Given the description of an element on the screen output the (x, y) to click on. 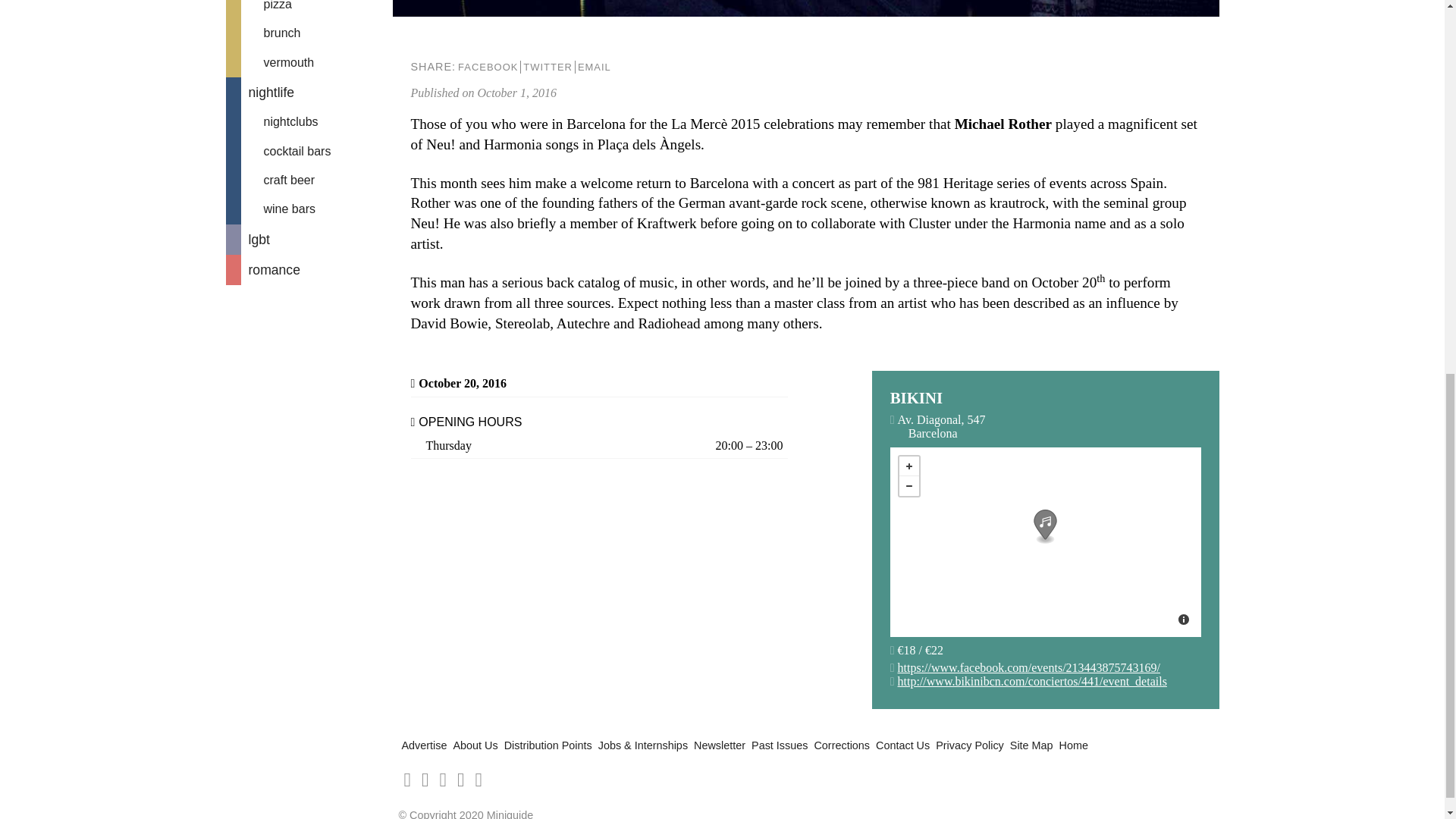
craft beer (309, 180)
vermouth (309, 62)
FACEBOOK (487, 66)
nightlife (309, 91)
cocktail bars (309, 151)
Zoom in (908, 465)
romance (309, 269)
nightclubs (309, 121)
lgbt (309, 239)
pizza (309, 9)
